Given the description of an element on the screen output the (x, y) to click on. 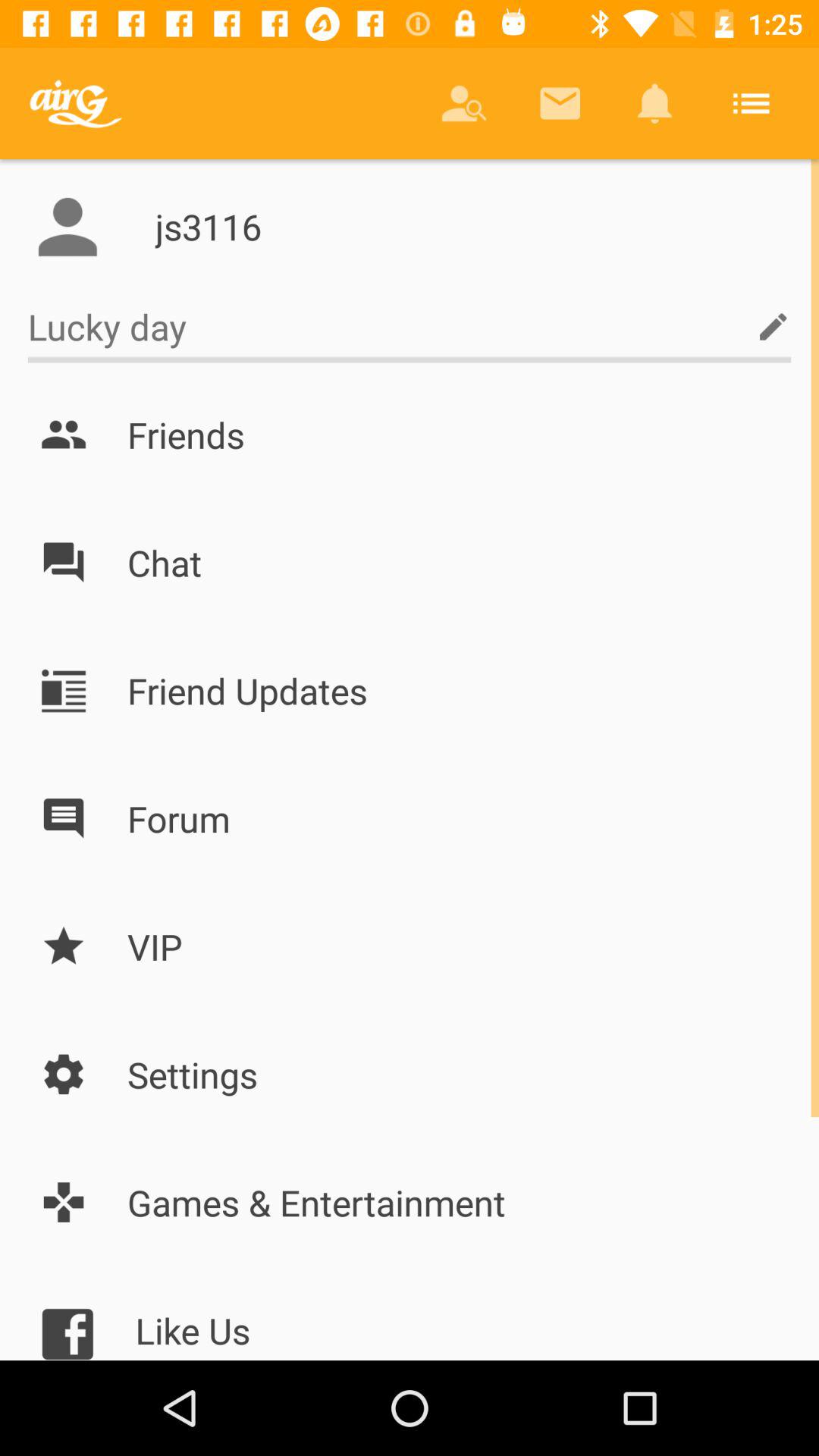
open profile (67, 226)
